Given the description of an element on the screen output the (x, y) to click on. 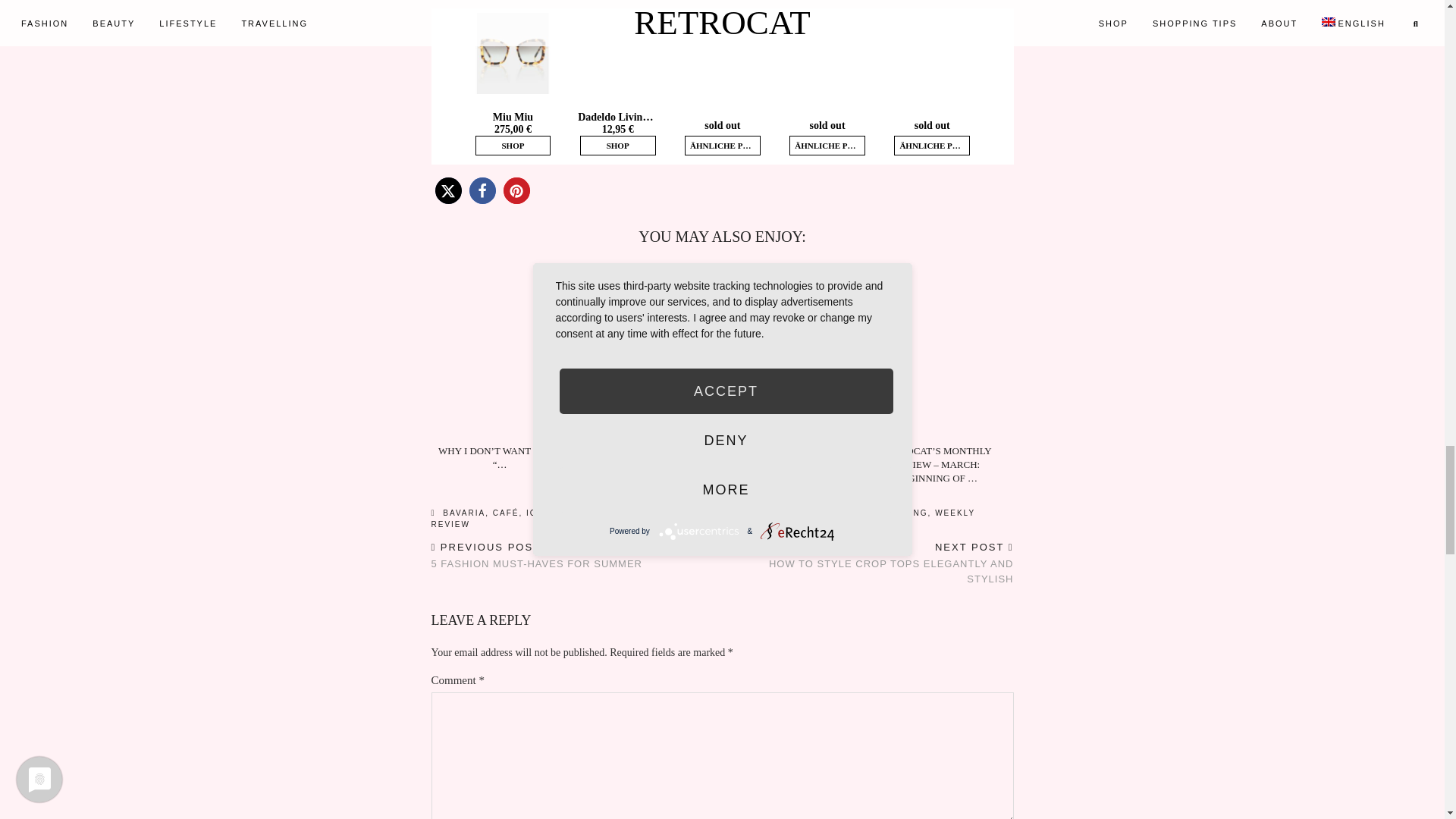
Share on Facebook (481, 190)
Pin it on Pinterest (516, 190)
